Given the description of an element on the screen output the (x, y) to click on. 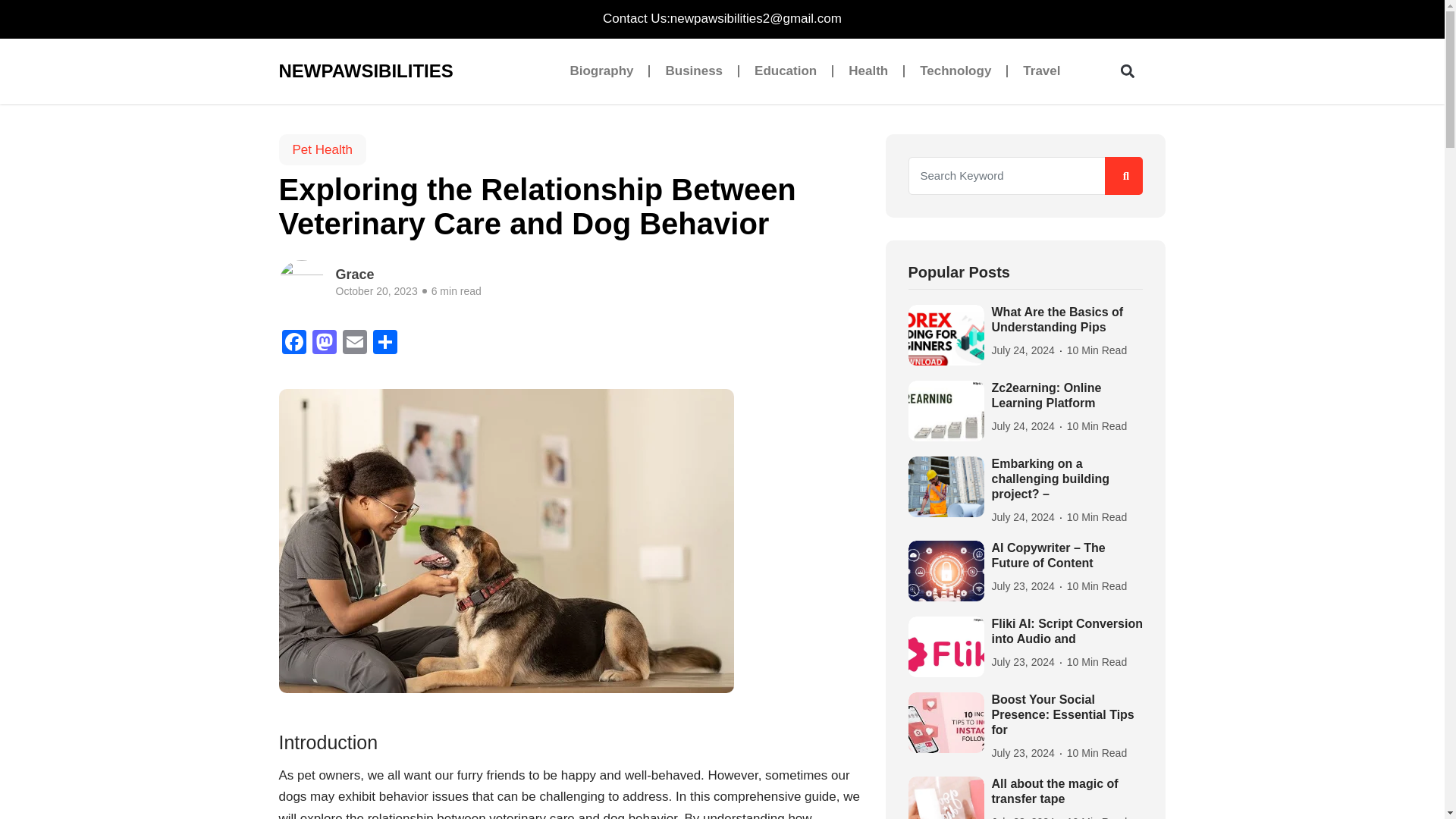
Technology (955, 71)
Mastodon (323, 343)
Biography (600, 71)
Email (354, 343)
Education (785, 71)
Business (693, 71)
Travel (1041, 71)
Pet Health (322, 149)
NEWPAWSIBILITIES (361, 71)
Facebook (293, 343)
Health (867, 71)
